Given the description of an element on the screen output the (x, y) to click on. 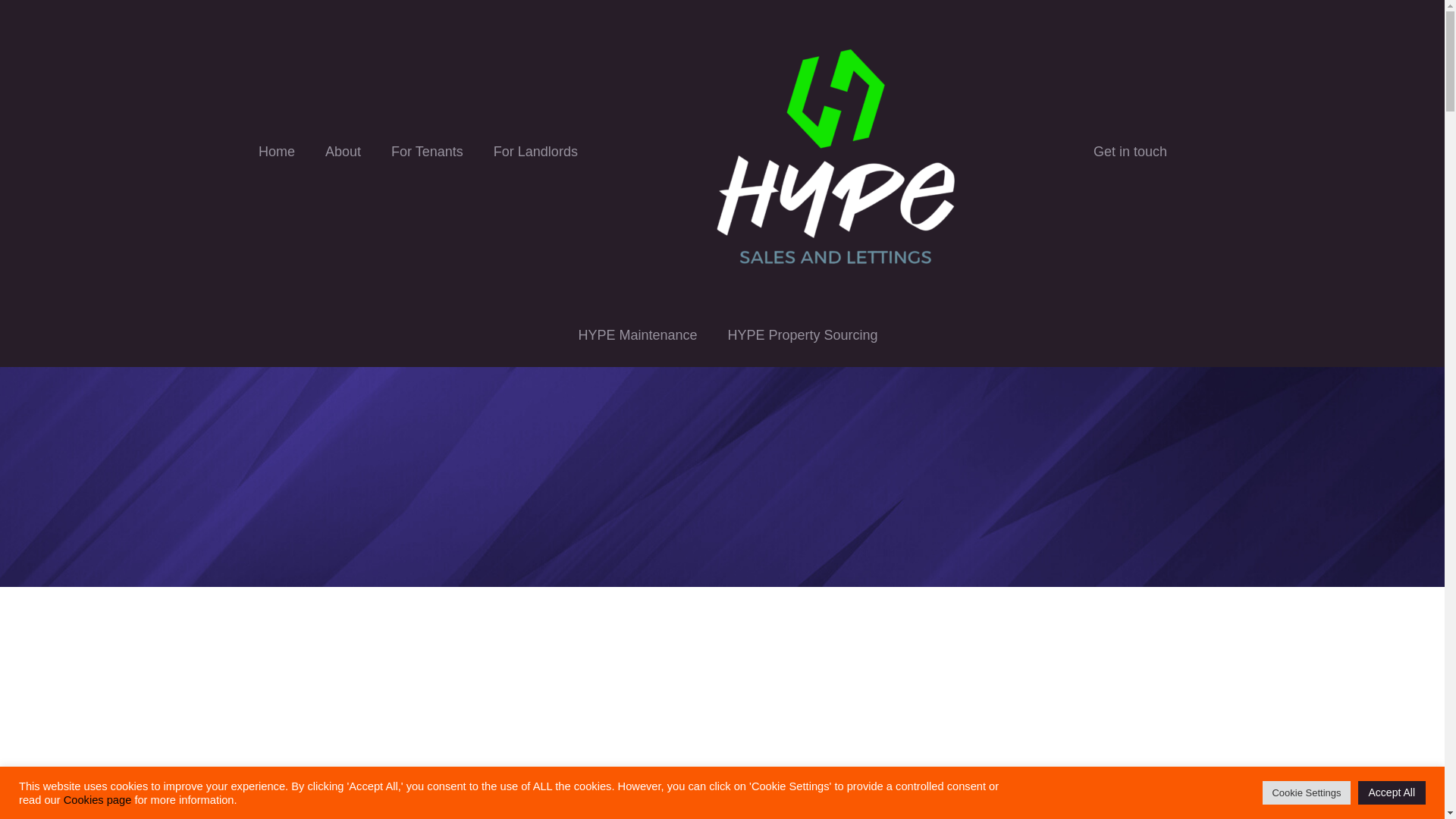
HYPE Property Sourcing (802, 334)
HYPE Maintenance (637, 334)
Get in touch (1130, 151)
For Tenants (427, 151)
For Landlords (535, 151)
